Given the description of an element on the screen output the (x, y) to click on. 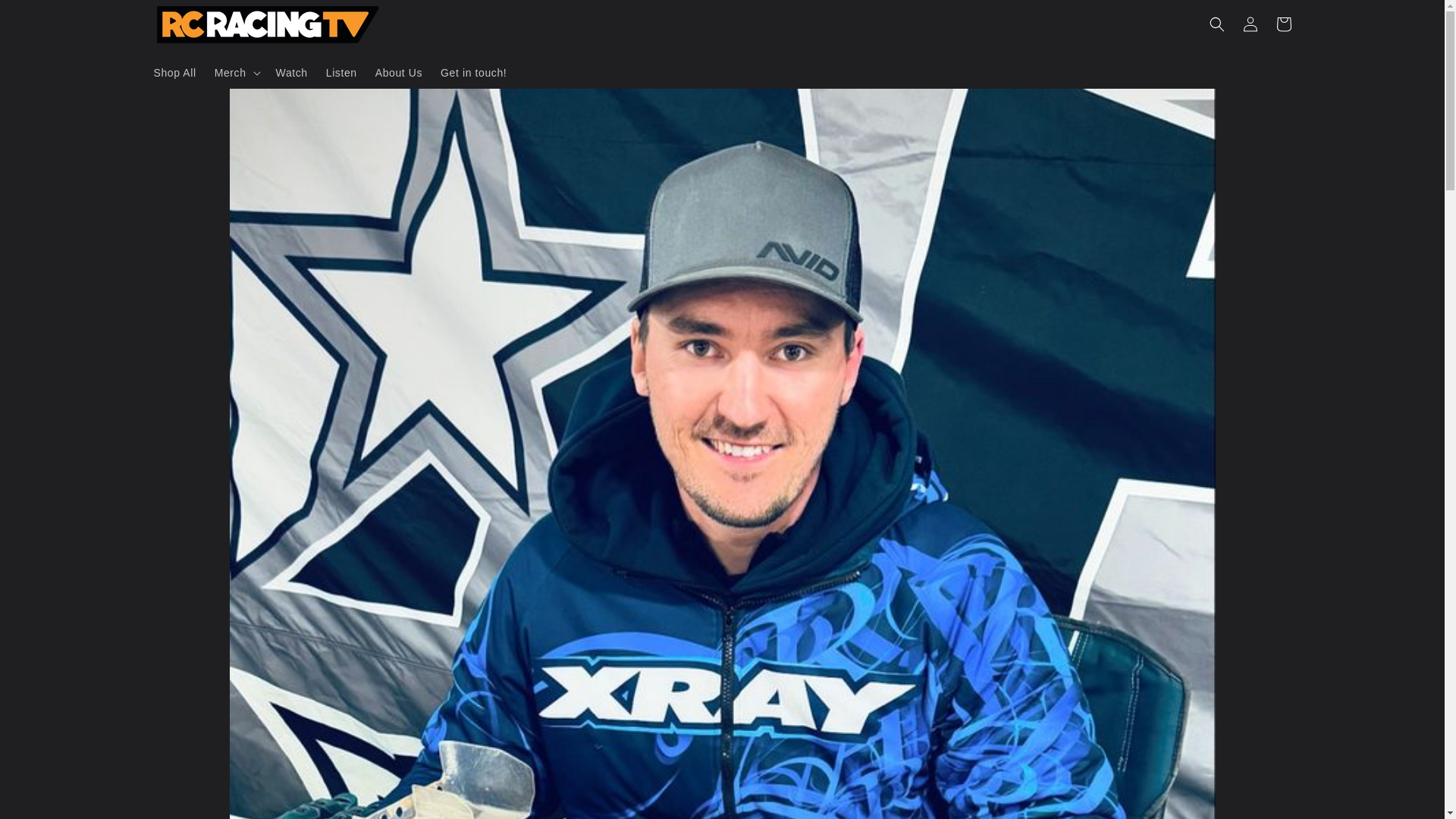
Get in touch! (472, 71)
Log in (1249, 23)
Listen (341, 71)
Shop All (174, 71)
Skip to content (45, 17)
About Us (398, 71)
Cart (1283, 23)
Watch (291, 71)
